Given the description of an element on the screen output the (x, y) to click on. 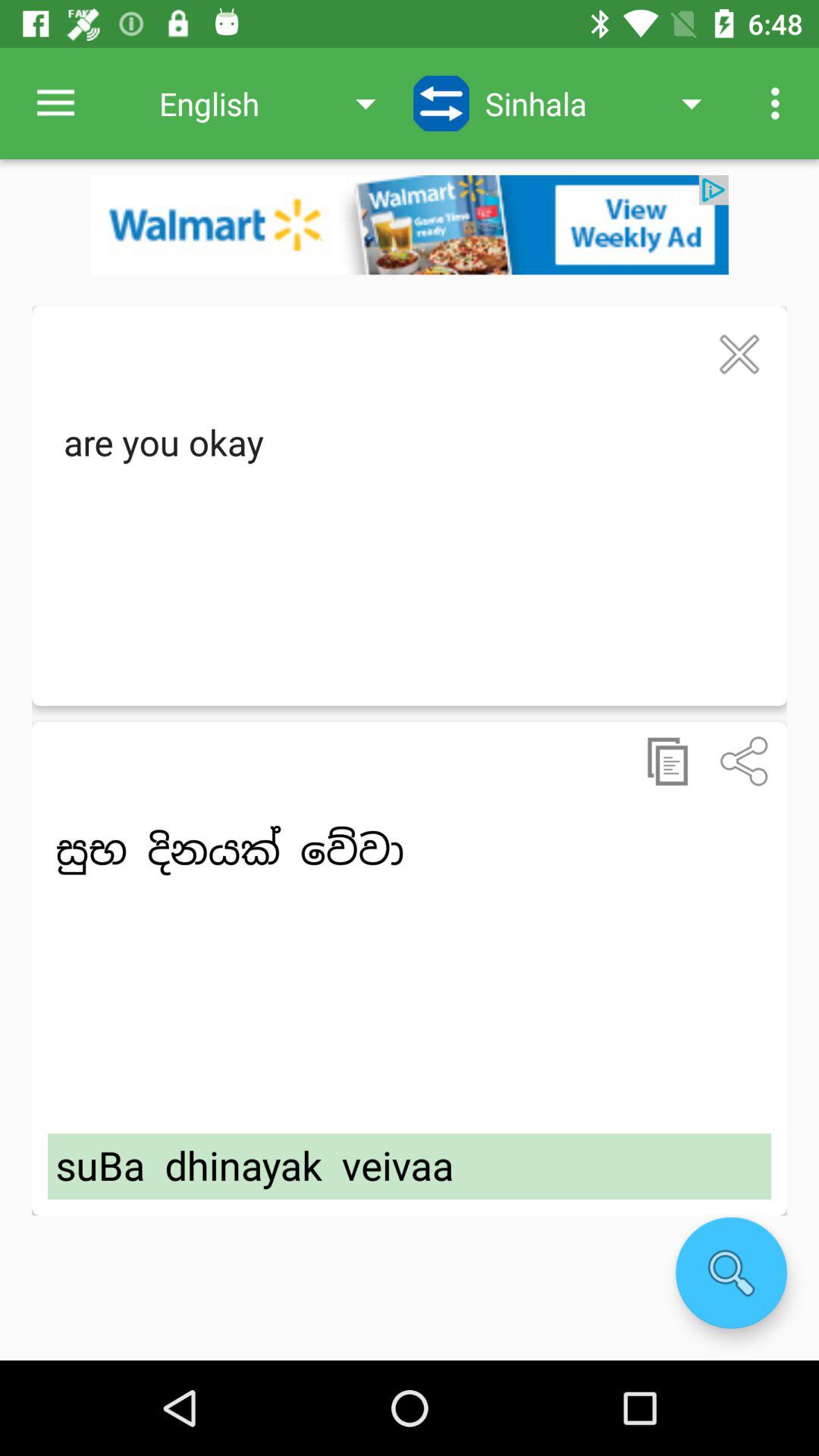
open the app to the right of the english (441, 103)
